Given the description of an element on the screen output the (x, y) to click on. 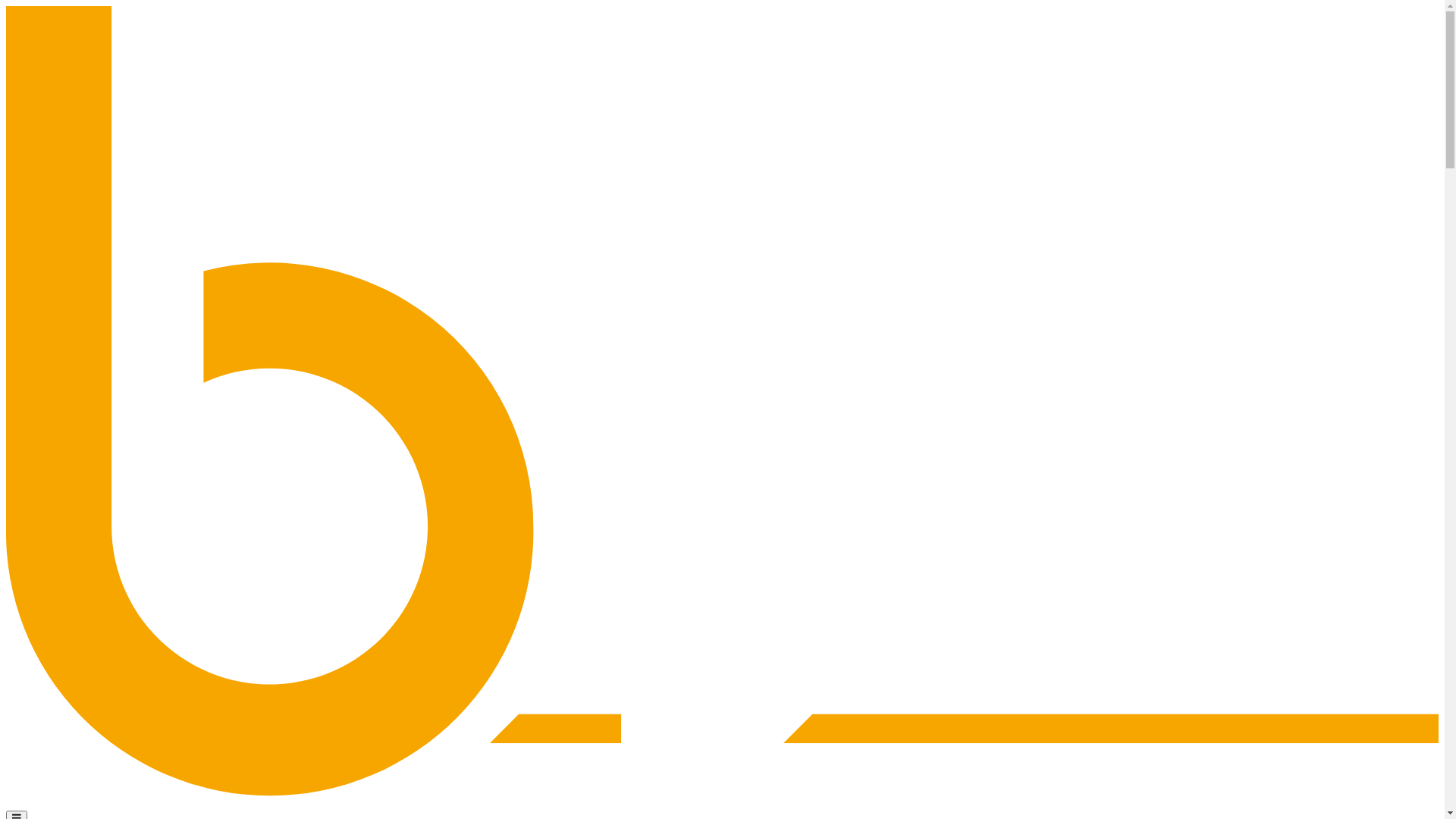
Aller au contenu principal Element type: text (6, 6)
